Given the description of an element on the screen output the (x, y) to click on. 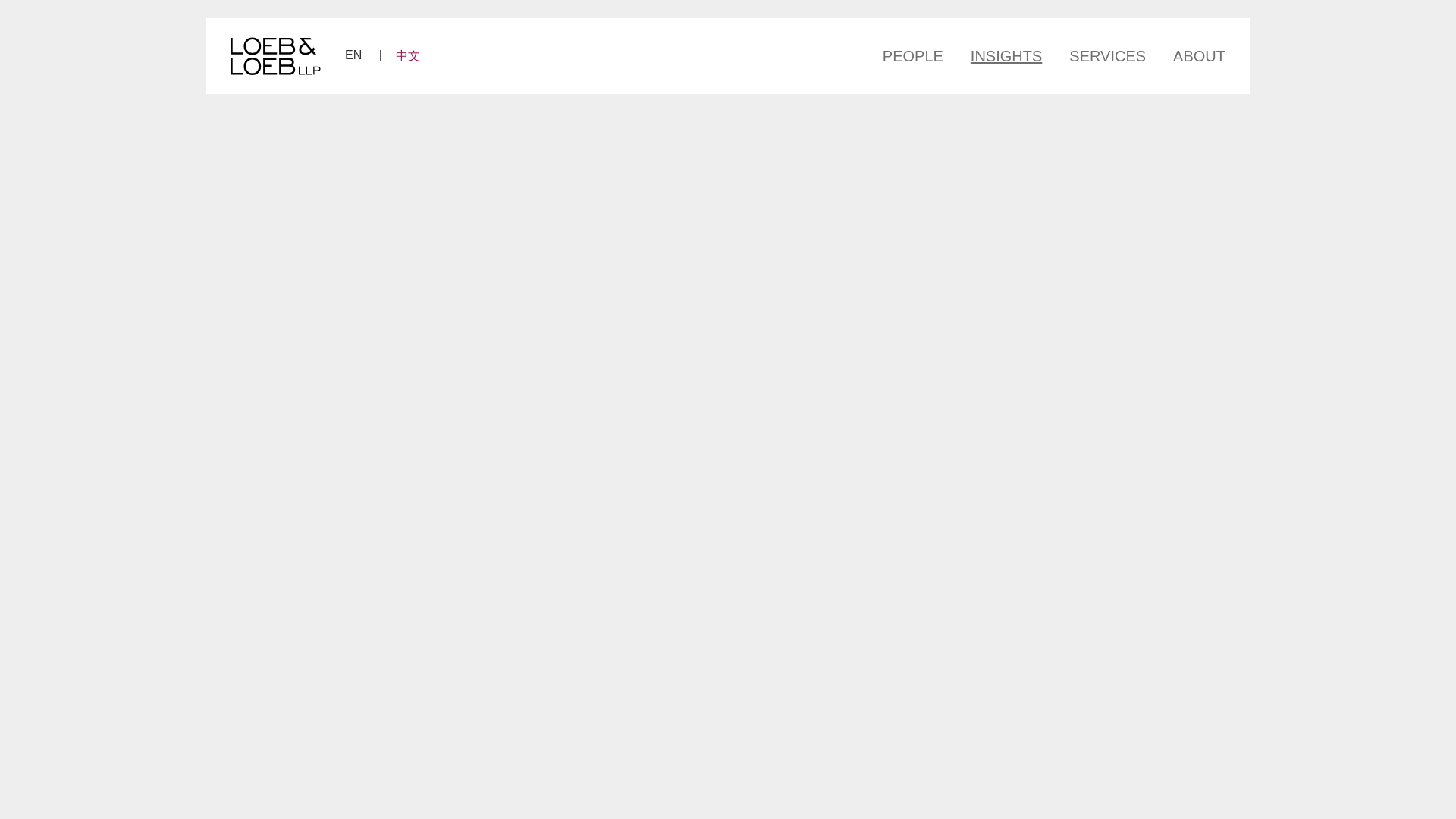
INSIGHTS (1005, 54)
ABOUT (1191, 54)
SERVICES (1106, 54)
PEOPLE (919, 54)
